Given the description of an element on the screen output the (x, y) to click on. 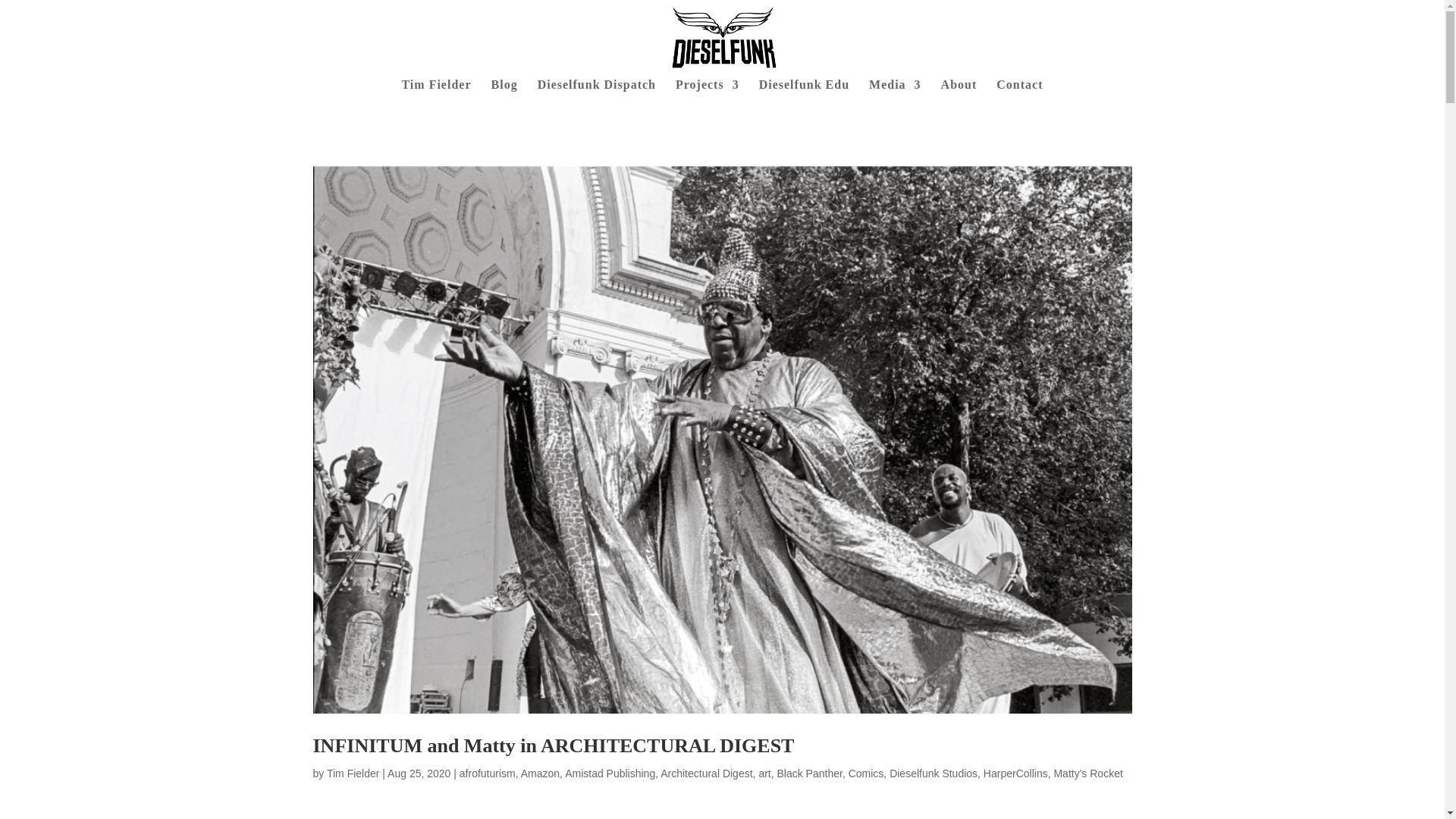
Media (895, 91)
Dieselfunk Dispatch (596, 91)
Blog (505, 91)
Contact (1018, 91)
Dieselfunk Edu (803, 91)
Amazon (540, 773)
Tim Fielder (353, 773)
Architectural Digest (706, 773)
INFINITUM and Matty in ARCHITECTURAL DIGEST (553, 745)
Black Panther (808, 773)
